Given the description of an element on the screen output the (x, y) to click on. 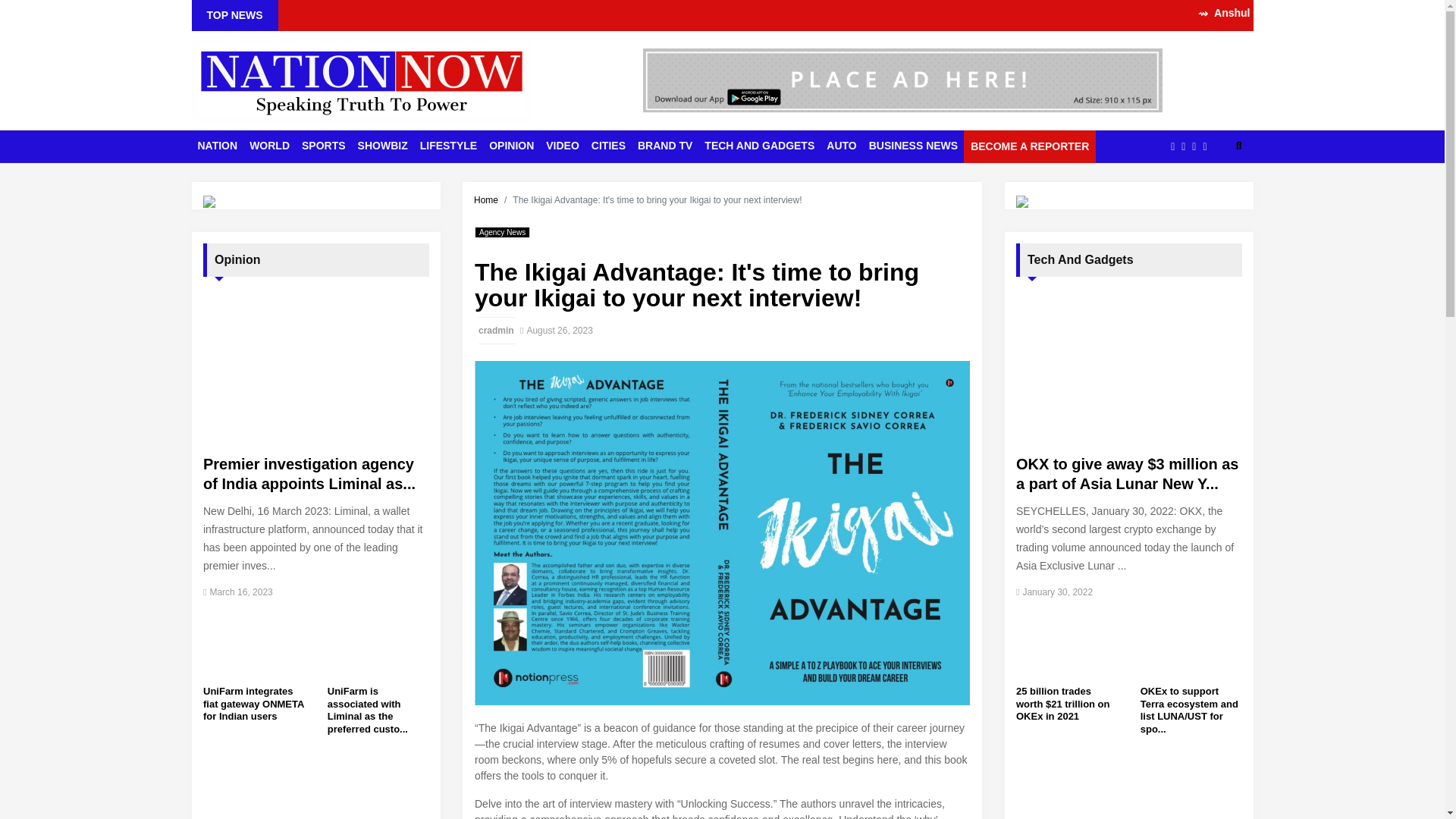
BUSINESS NEWS (913, 145)
VIDEO (562, 145)
BECOME A REPORTER (1029, 146)
TECH AND GADGETS (759, 145)
SPORTS (323, 145)
WORLD (269, 145)
AUTO (841, 145)
OPINION (511, 145)
SHOWBIZ (382, 145)
NATION (216, 145)
